Given the description of an element on the screen output the (x, y) to click on. 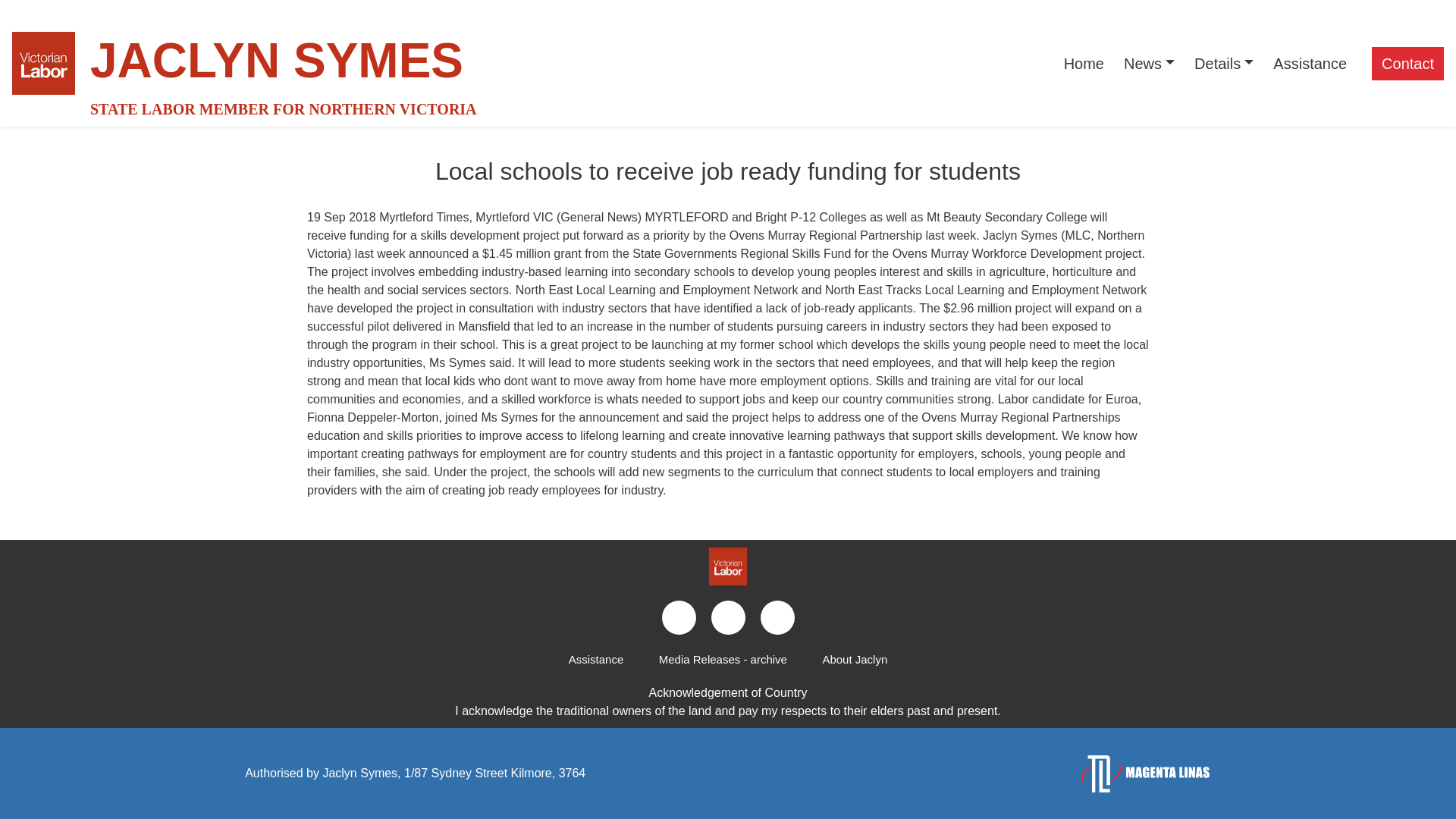
News (1149, 63)
Assistance (1309, 63)
About Jaclyn (854, 659)
Home (1083, 63)
Media Releases - archive (722, 659)
Contact (1407, 63)
Assistance (595, 659)
Details (1224, 63)
